Given the description of an element on the screen output the (x, y) to click on. 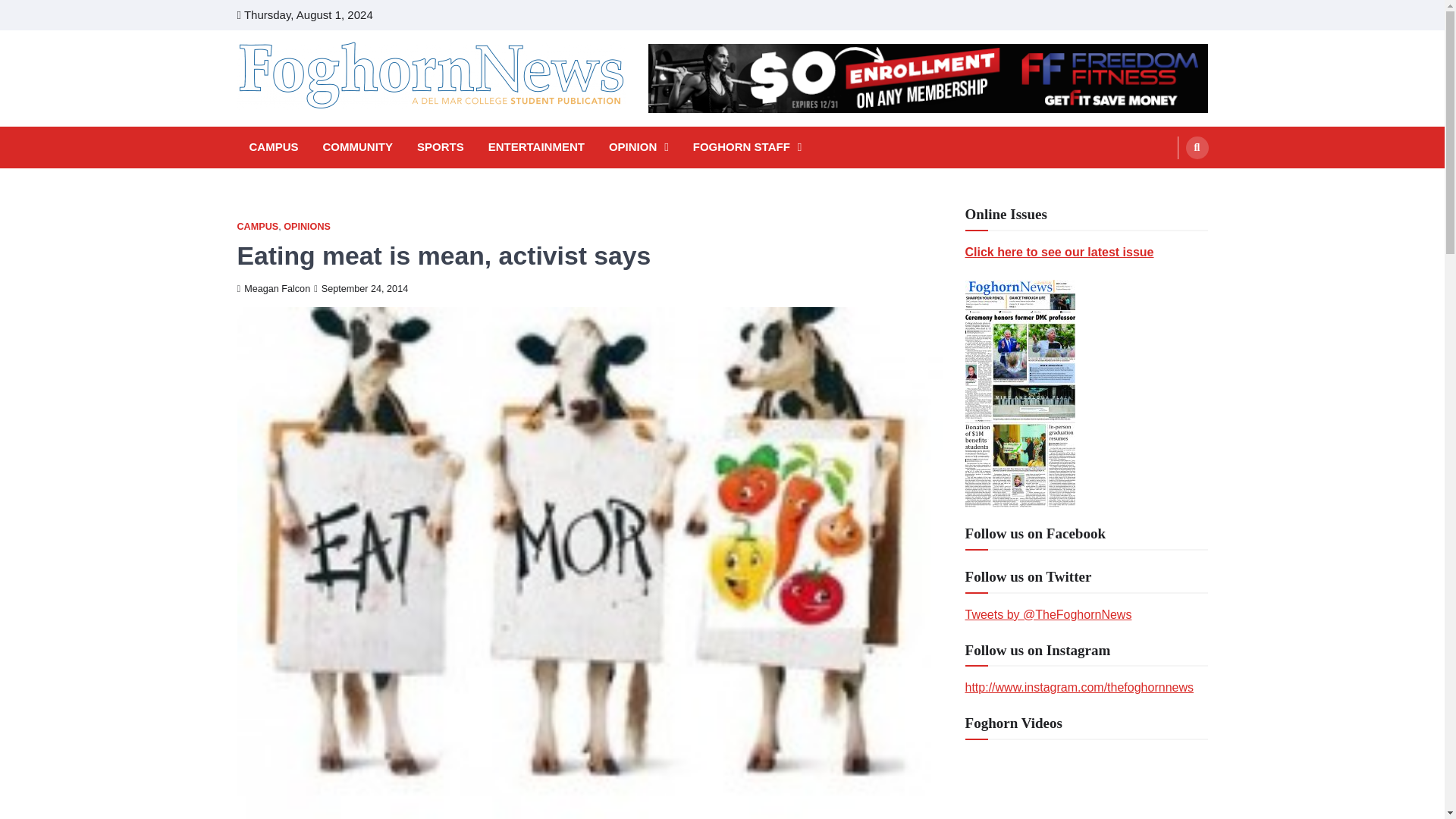
FOGHORN NEWS (342, 130)
FOGHORN STAFF (747, 147)
SPORTS (440, 147)
COMMUNITY (357, 147)
Meagan Falcon (272, 288)
Click here to see our latest issue (1058, 251)
September 24, 2014 (360, 288)
Search (1168, 183)
Search (1197, 147)
CAMPUS (256, 226)
